Given the description of an element on the screen output the (x, y) to click on. 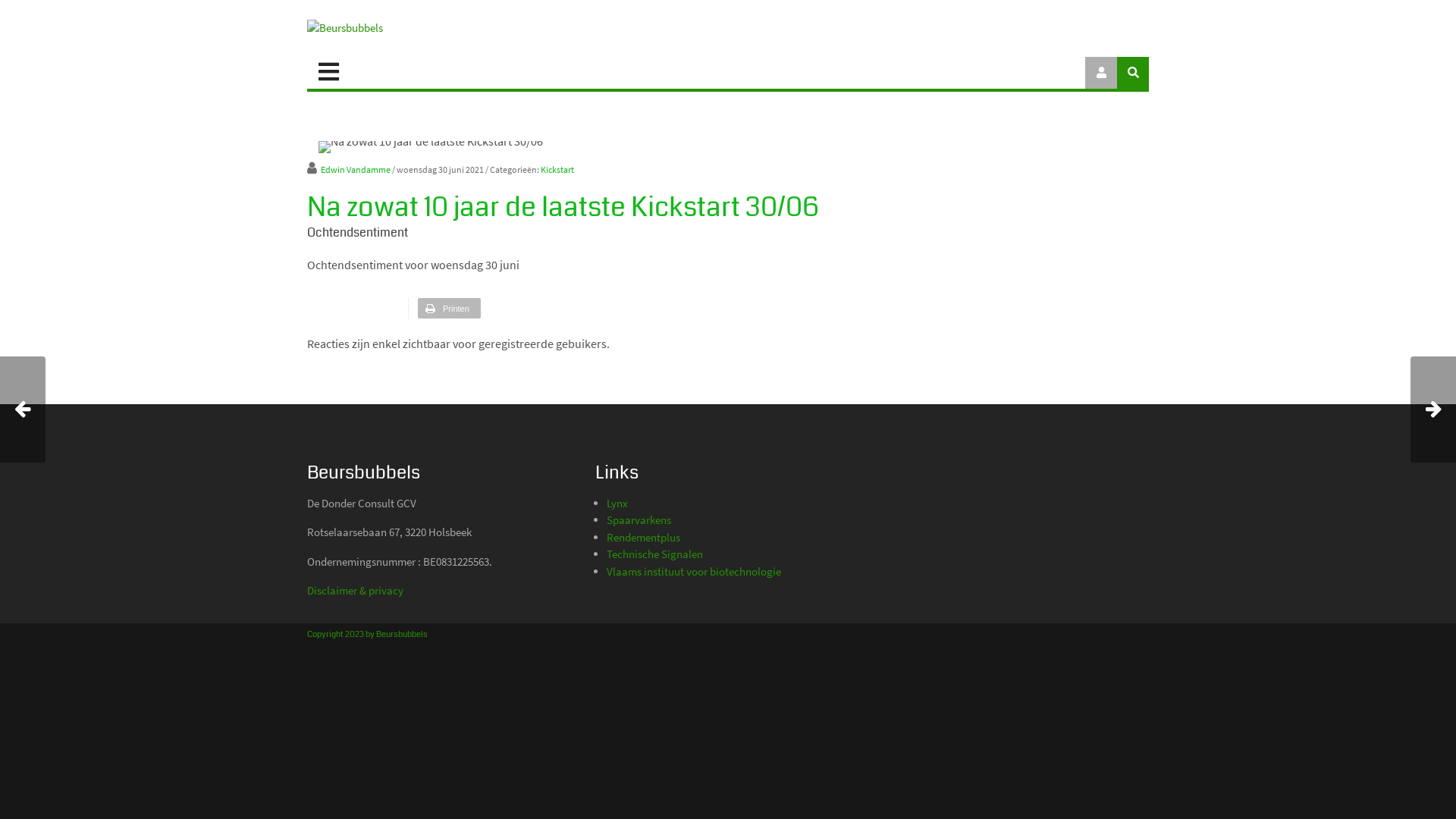
Beursbubbels Element type: hover (344, 27)
Edwin Vandamme Element type: text (348, 169)
Spaarvarkens Element type: text (638, 519)
Vlaams instituut voor biotechnologie Element type: text (693, 571)
Rendementplus Element type: text (643, 537)
Disclaimer & privacy Element type: text (355, 590)
Lynx Element type: text (616, 502)
Kickstart Element type: text (557, 169)
Technische Signalen Element type: text (654, 553)
